Given the description of an element on the screen output the (x, y) to click on. 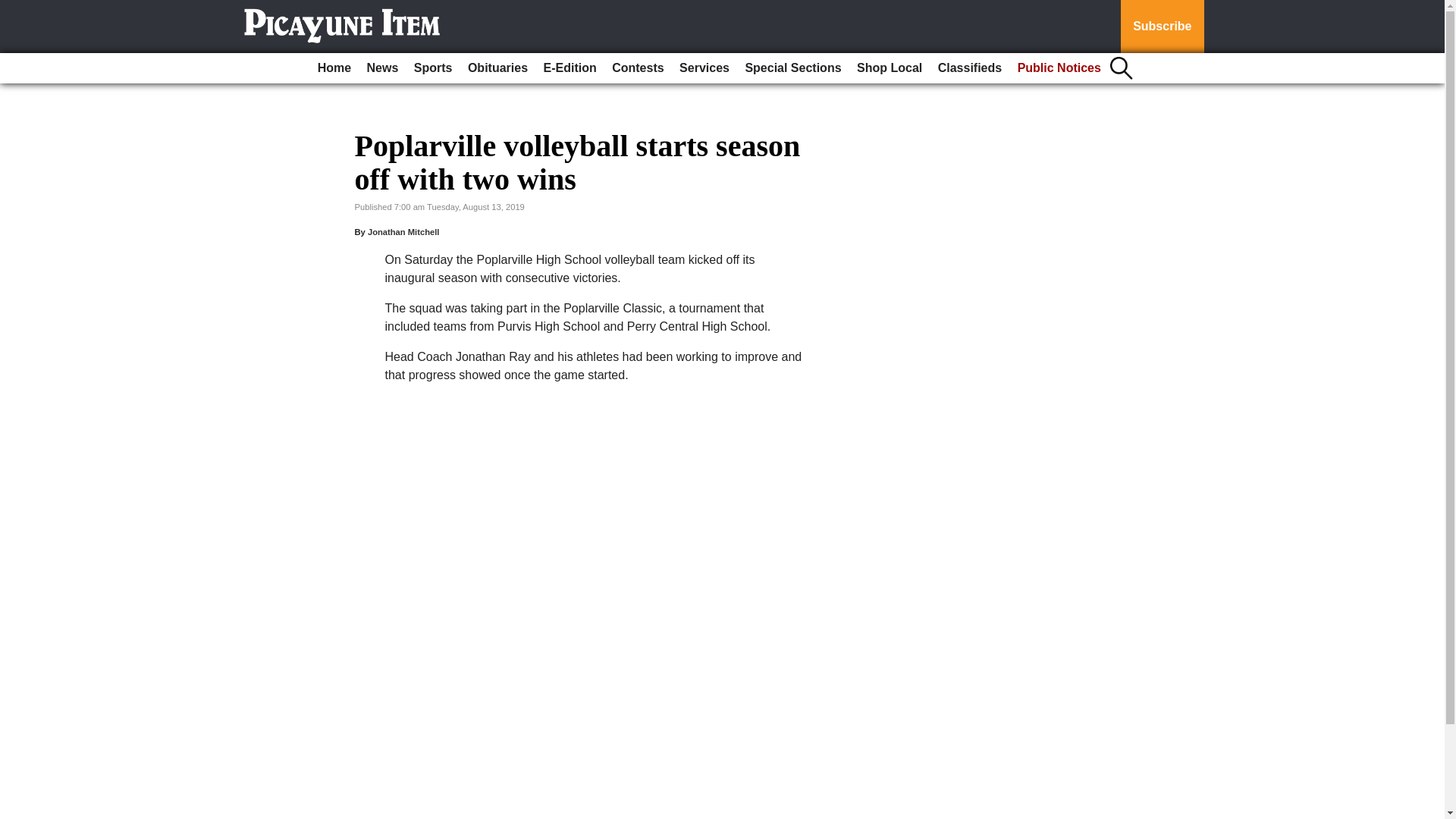
News (382, 68)
Classifieds (969, 68)
Special Sections (792, 68)
E-Edition (569, 68)
Jonathan Mitchell (403, 231)
Services (703, 68)
Home (333, 68)
Sports (432, 68)
Go (13, 9)
Contests (637, 68)
Obituaries (497, 68)
Subscribe (1162, 26)
Public Notices (1058, 68)
Shop Local (889, 68)
